Given the description of an element on the screen output the (x, y) to click on. 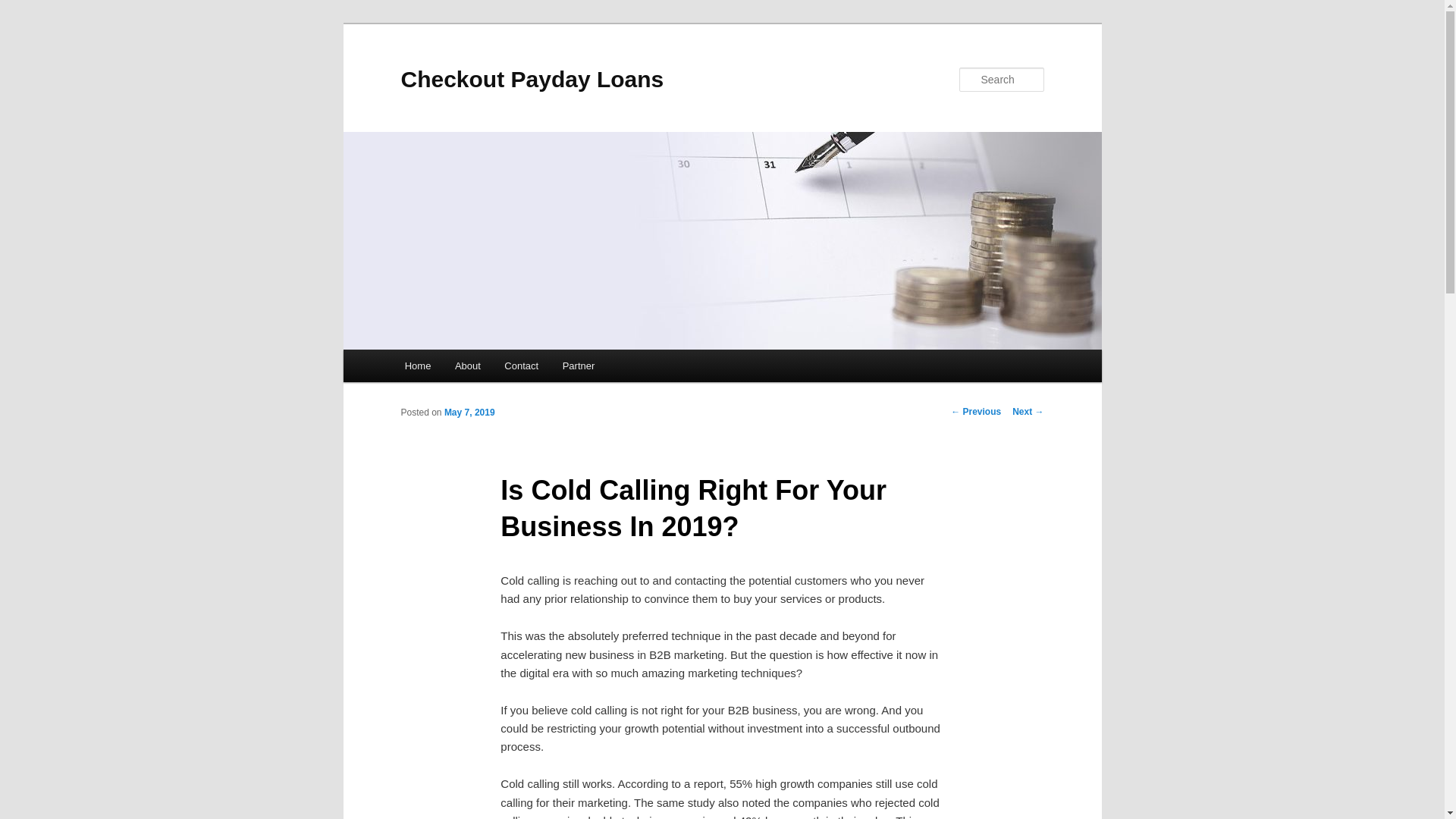
May 7, 2019 (469, 412)
Contact (521, 365)
Checkout Payday Loans (531, 78)
Search (24, 8)
12:27 pm (469, 412)
Home (417, 365)
Partner (578, 365)
About (467, 365)
